Given the description of an element on the screen output the (x, y) to click on. 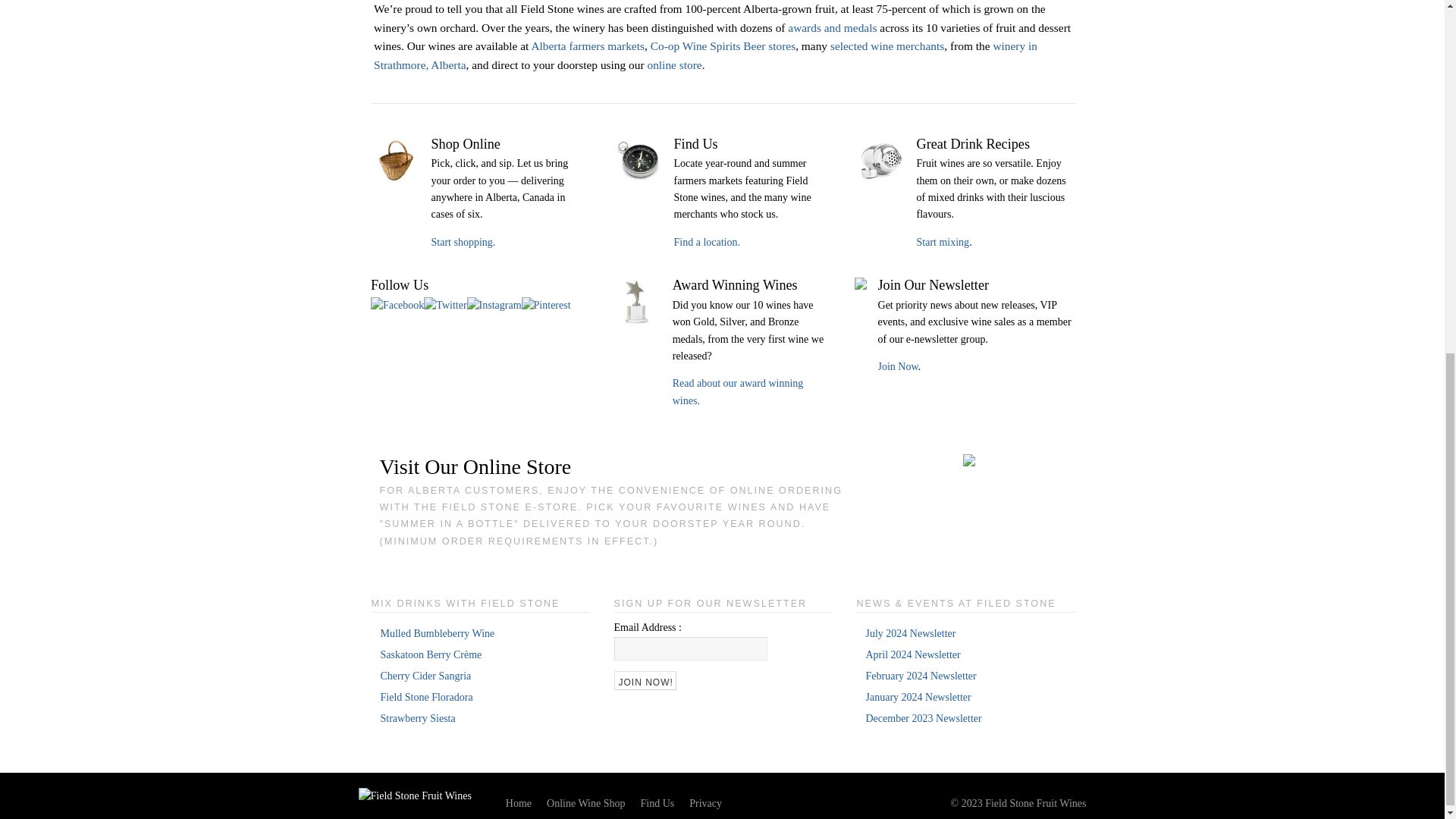
Start shopping. (462, 242)
Home (414, 795)
Alberta farmers markets (588, 45)
awards and medals (831, 27)
Co-op Wine Spirits Beer stores (722, 45)
winery in Strathmore, Alberta (705, 55)
Start mixing (942, 242)
selected wine merchants (886, 45)
Join Now! (645, 680)
online store (673, 64)
